Given the description of an element on the screen output the (x, y) to click on. 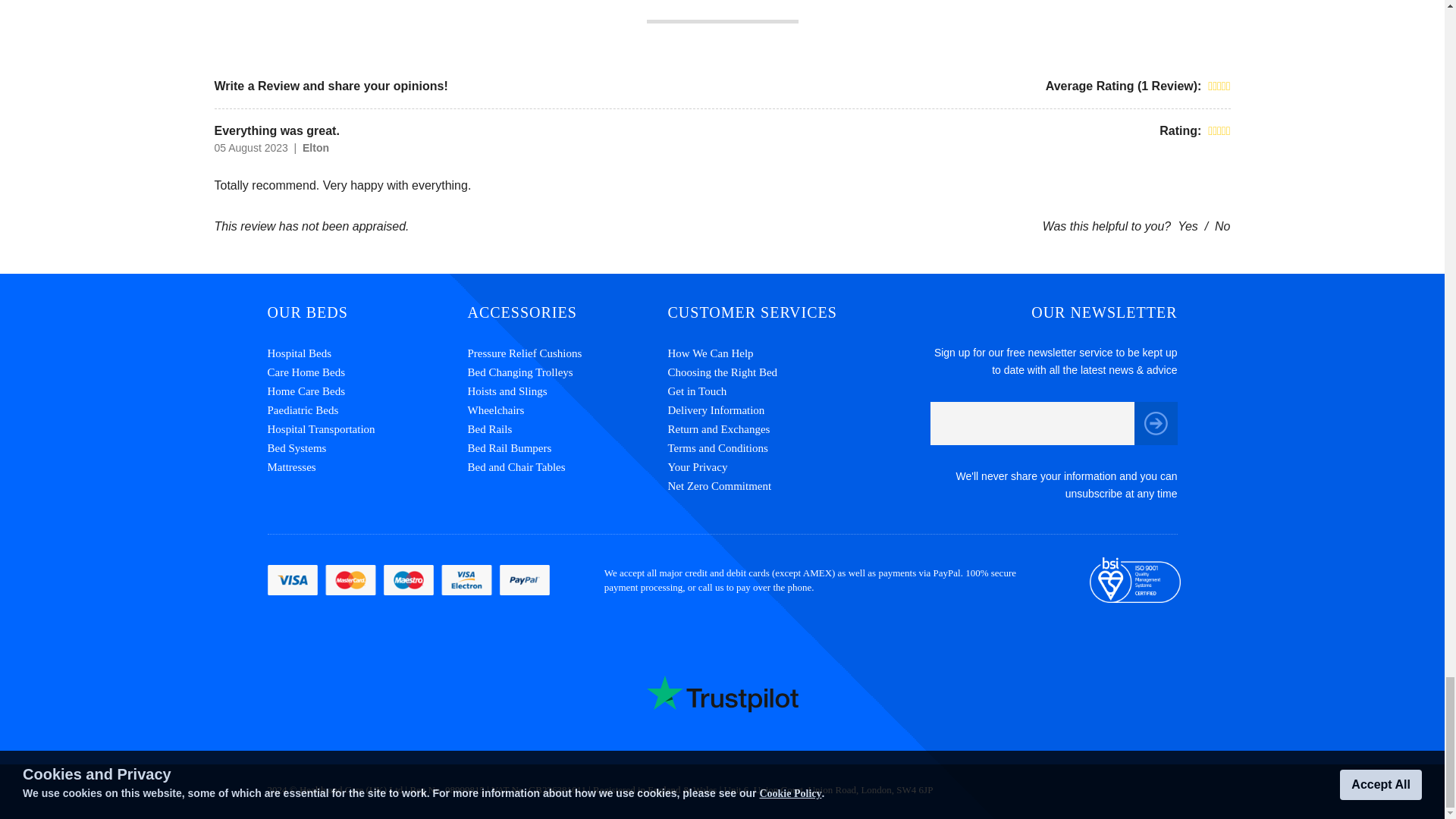
5 Stars (1219, 86)
No (1222, 226)
Care Home Beds (366, 372)
Paediatric Beds (366, 410)
Write a Review (256, 85)
Home Care Beds (366, 391)
Yes (1187, 226)
Hospital Transportation (366, 429)
Hospital Beds (366, 353)
Customer reviews powered by Trustpilot (721, 694)
